Given the description of an element on the screen output the (x, y) to click on. 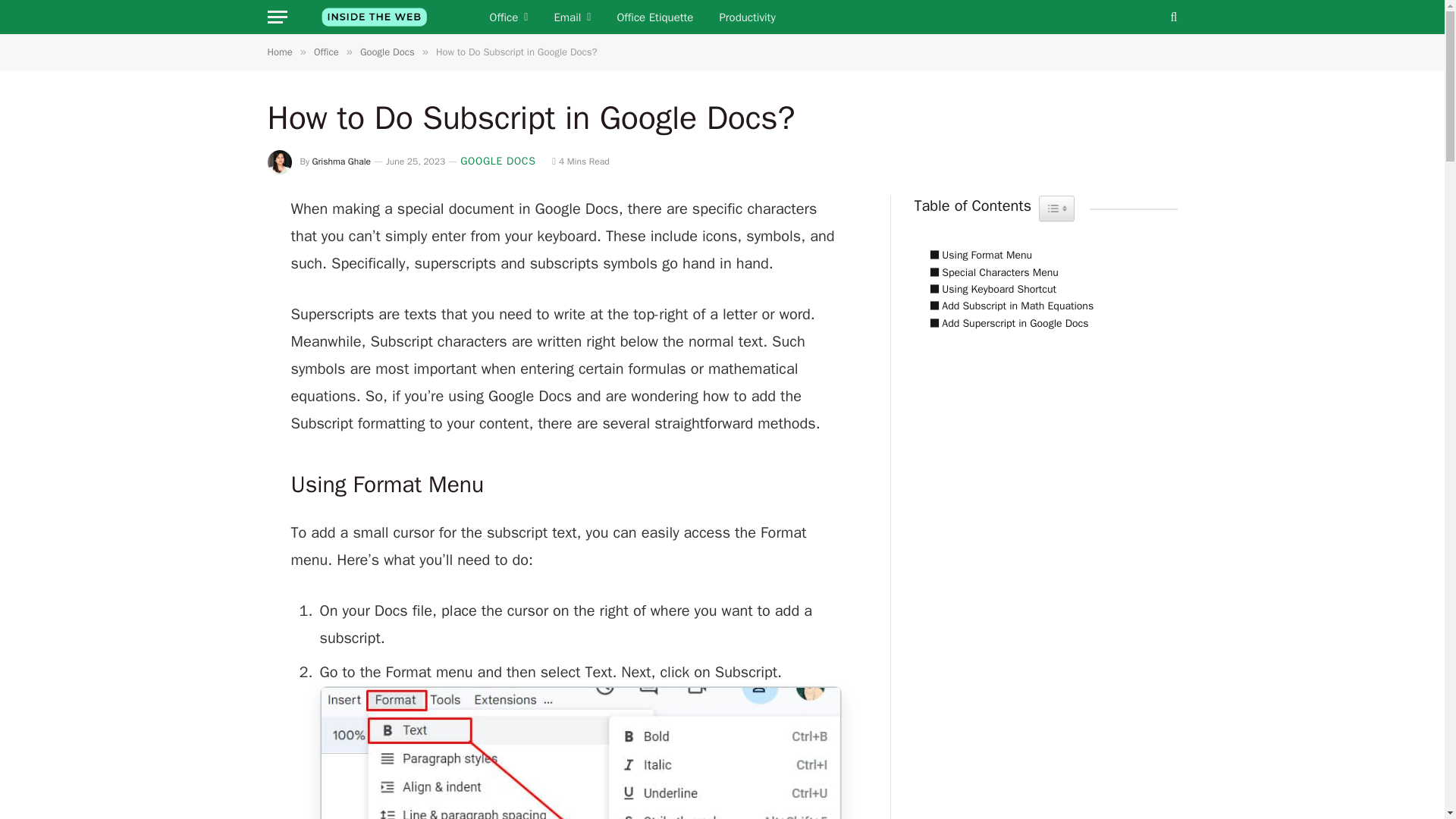
Posts by Grishma Ghale (342, 161)
Grishma Ghale (342, 161)
Home (279, 51)
Add Subscript in Math Equations (1007, 306)
Using Format Menu (976, 255)
Office (508, 17)
Inside The Web (373, 17)
Special Characters Menu (989, 272)
Office Etiquette (655, 17)
GOOGLE DOCS (497, 161)
Google Docs (386, 51)
Office (326, 51)
Productivity (746, 17)
